Given the description of an element on the screen output the (x, y) to click on. 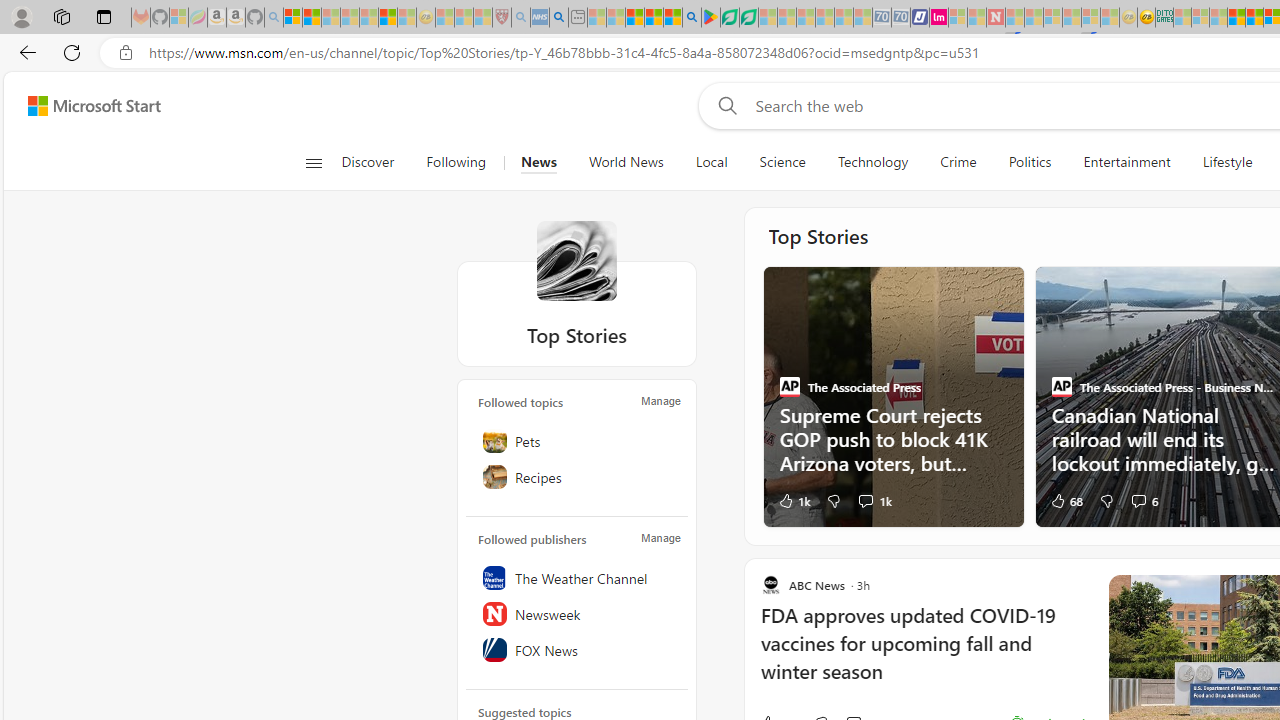
Kinda Frugal - MSN (1254, 17)
Bluey: Let's Play! - Apps on Google Play (710, 17)
